Given the description of an element on the screen output the (x, y) to click on. 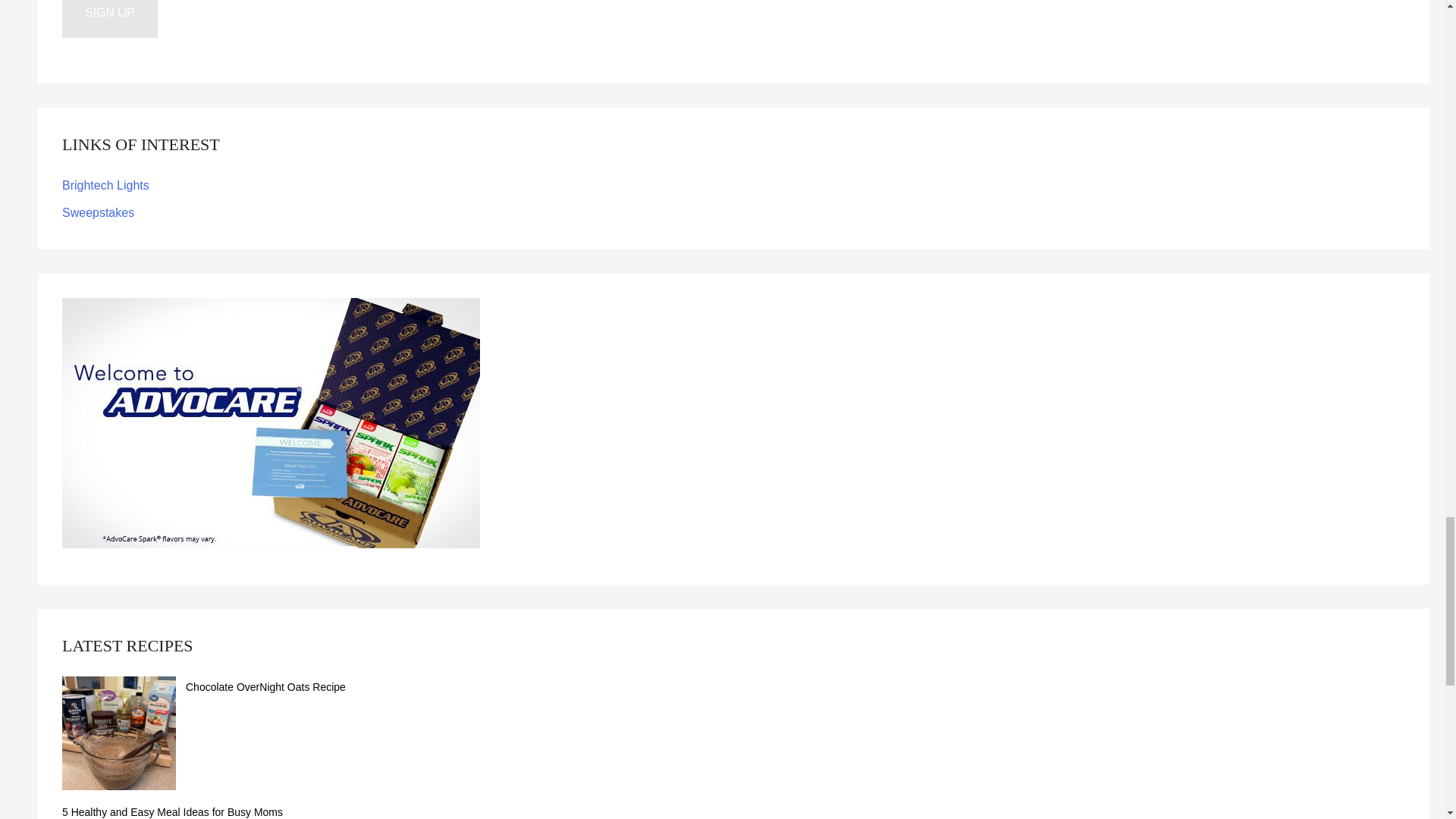
Sign up (109, 18)
Awesome lighting for your home! (105, 185)
Sweepstakes (97, 212)
